Given the description of an element on the screen output the (x, y) to click on. 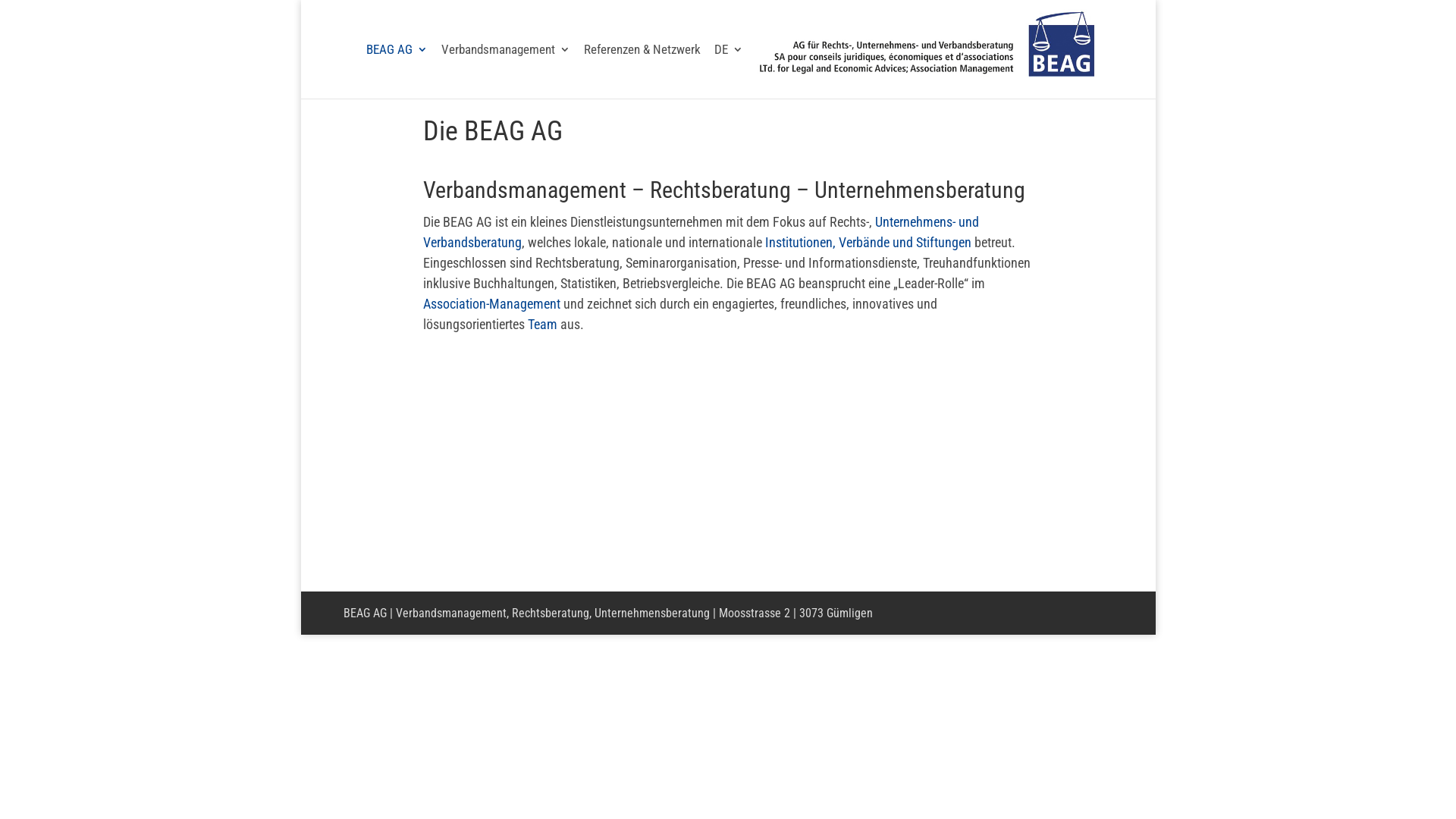
Verbandsmanagement Element type: text (505, 70)
Unternehmens- und Verbandsberatung Element type: text (701, 231)
Referenzen & Netzwerk Element type: text (641, 70)
Association-Management Element type: text (491, 303)
BEAG AG Element type: text (396, 70)
Team Element type: text (542, 324)
DE Element type: text (728, 70)
